Given the description of an element on the screen output the (x, y) to click on. 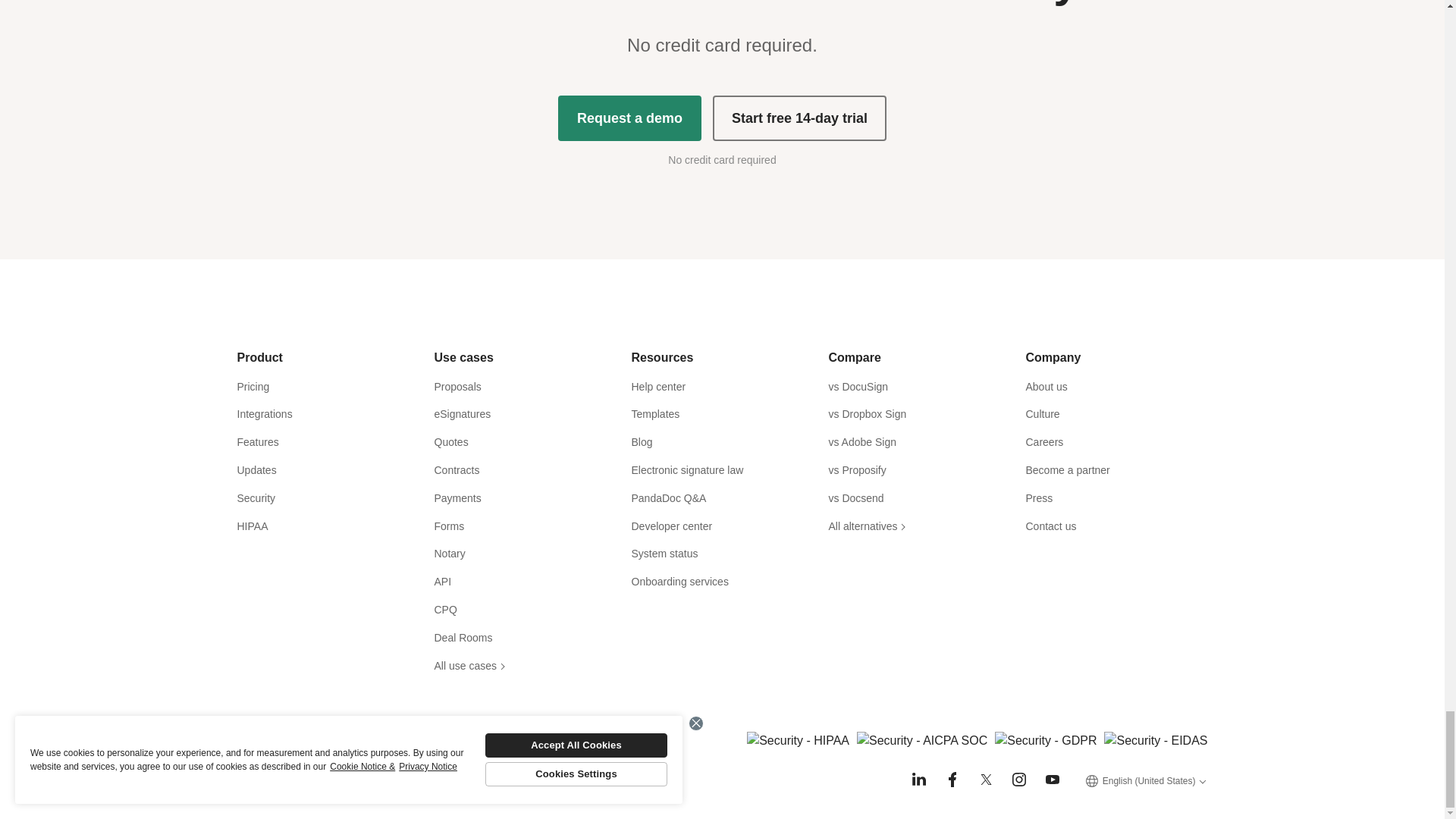
Twitter (985, 779)
Facebook (951, 779)
Youtube (1052, 779)
LinkedIn (919, 779)
Instagram (1018, 779)
